Given the description of an element on the screen output the (x, y) to click on. 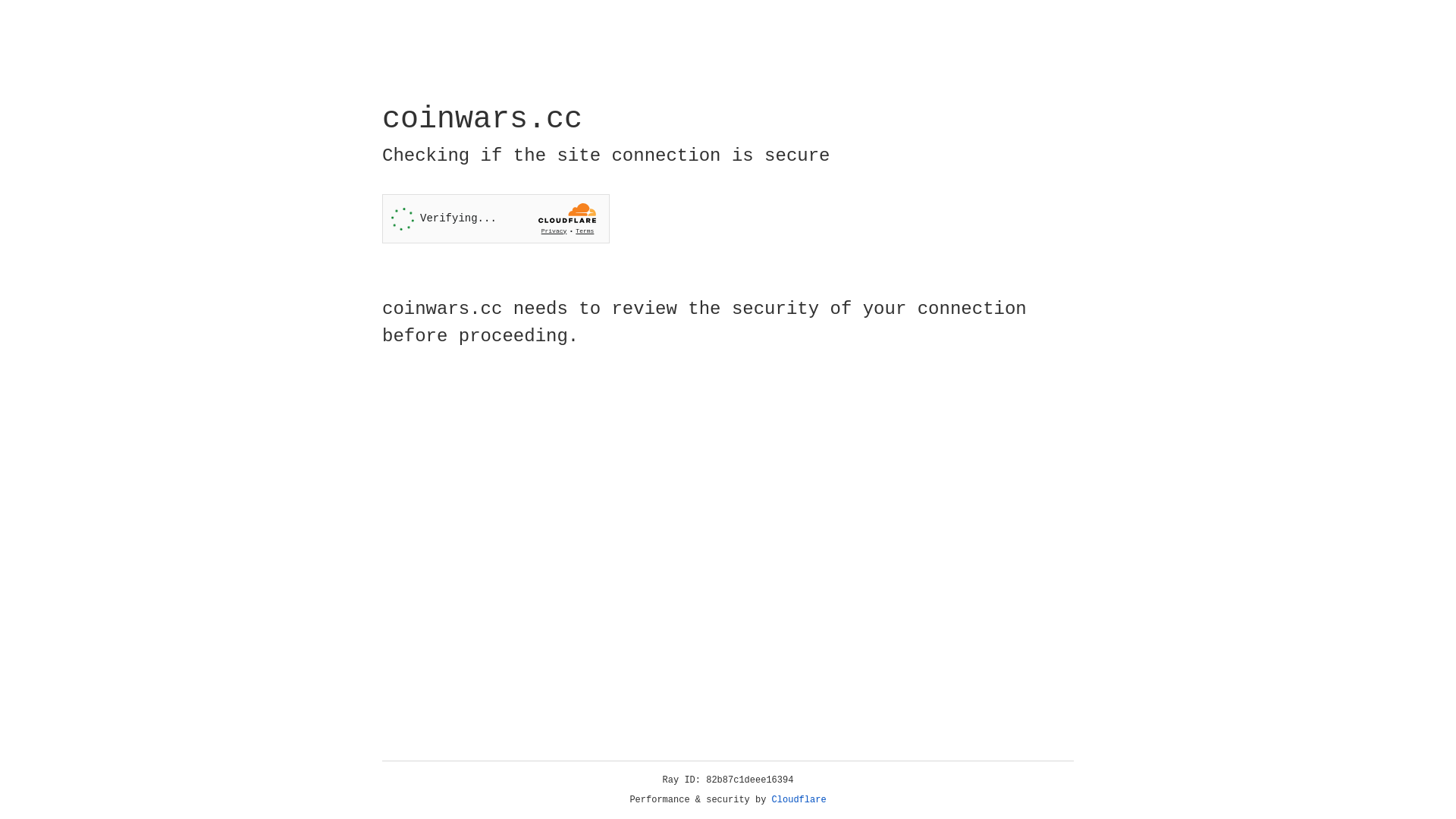
Cloudflare Element type: text (798, 799)
Widget containing a Cloudflare security challenge Element type: hover (495, 218)
